Given the description of an element on the screen output the (x, y) to click on. 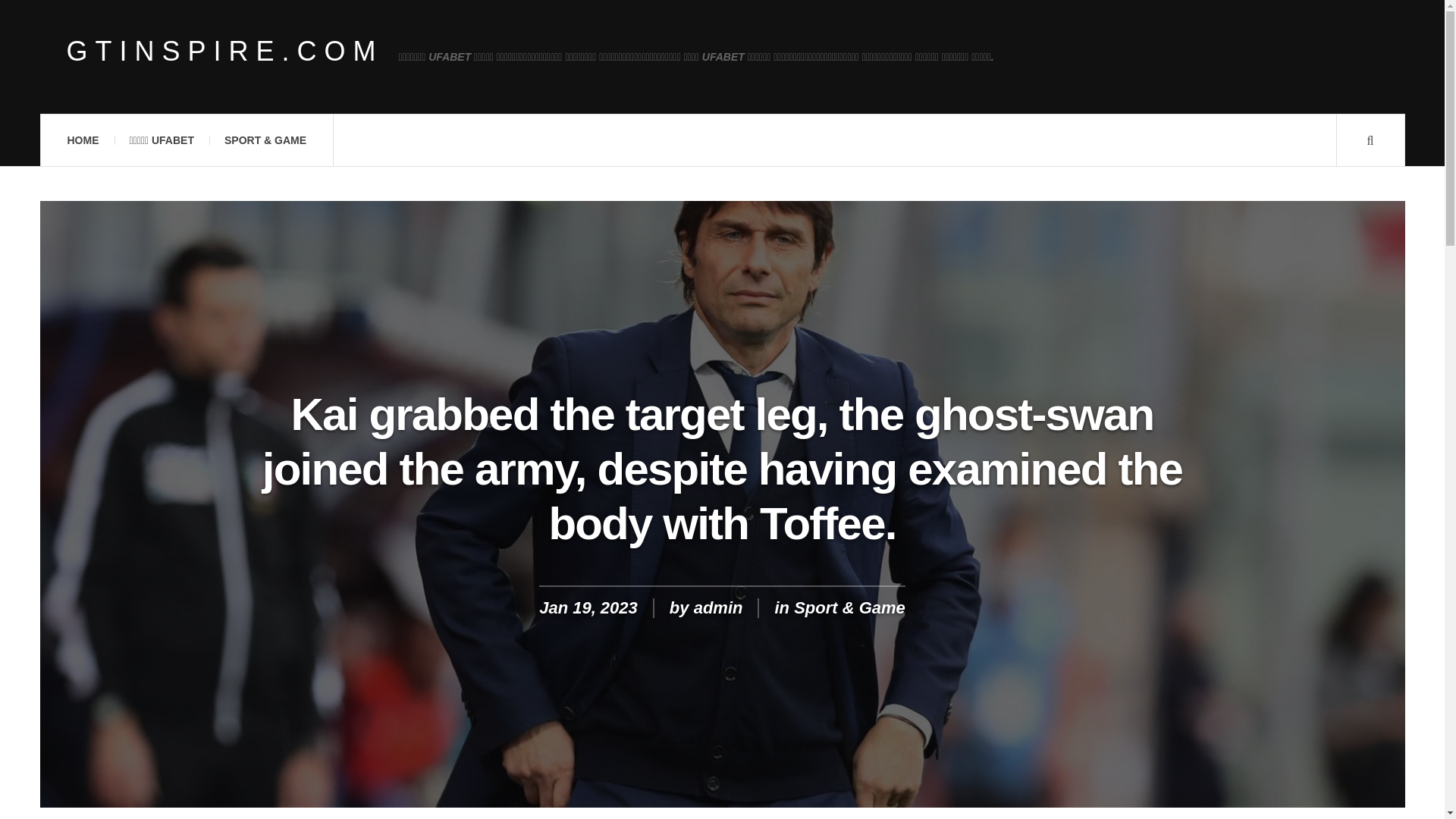
HOME (81, 140)
gtinspire.com (225, 51)
GTINSPIRE.COM (225, 51)
admin (718, 607)
